Given the description of an element on the screen output the (x, y) to click on. 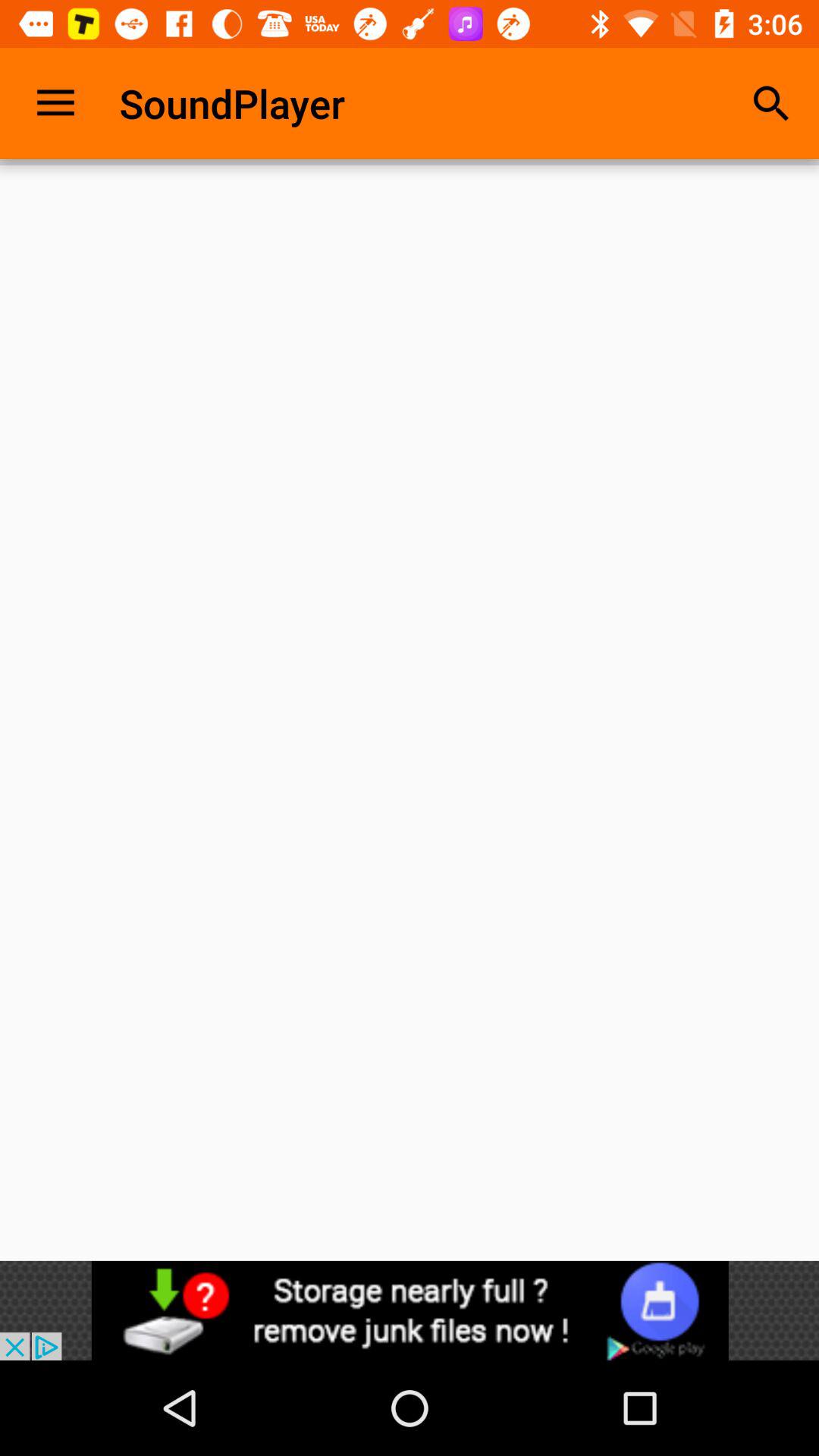
show advertisement (409, 1310)
